Given the description of an element on the screen output the (x, y) to click on. 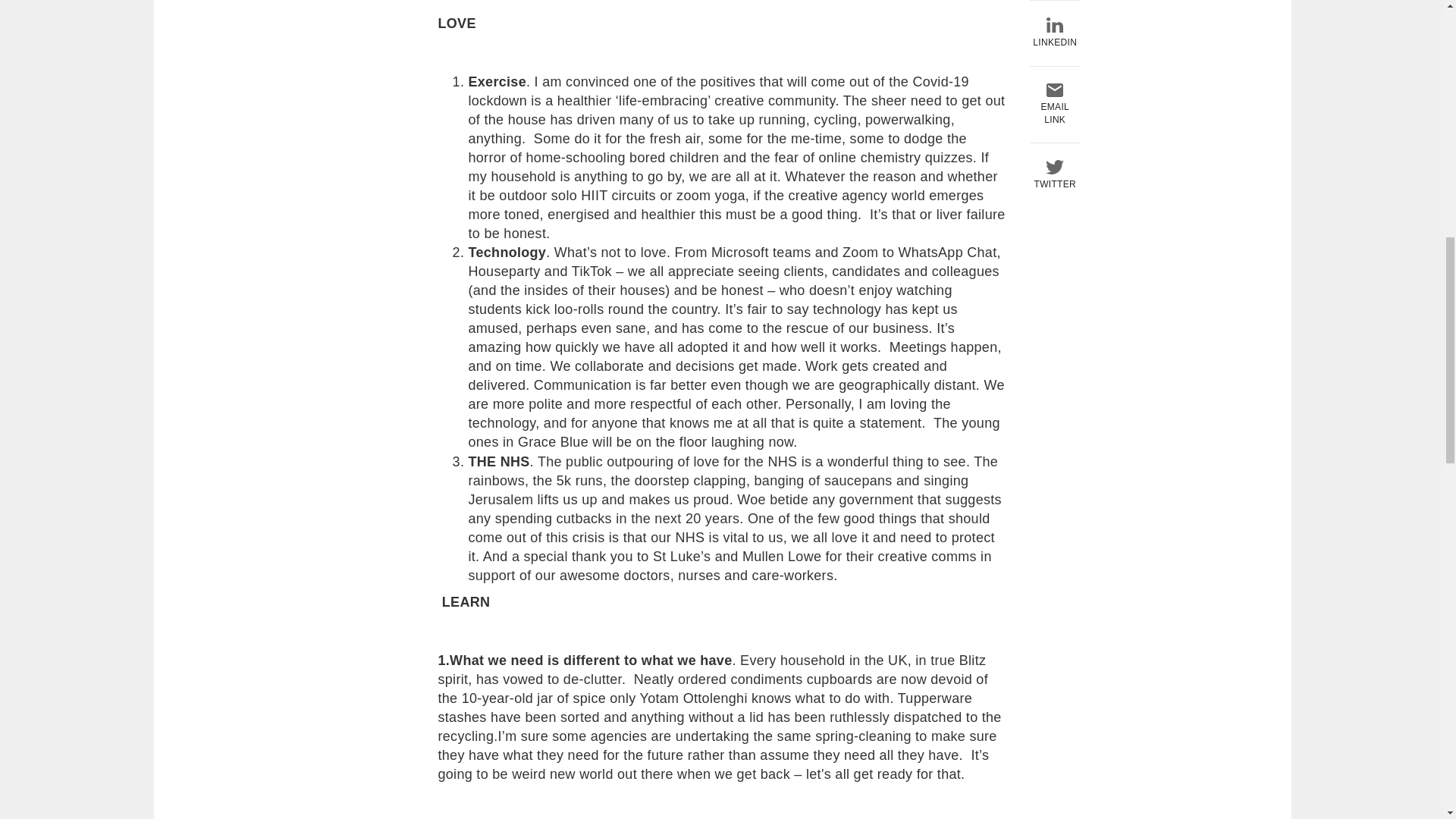
EMAIL LINK (1054, 94)
TWITTER (1054, 165)
LINKEDIN (1054, 23)
